Given the description of an element on the screen output the (x, y) to click on. 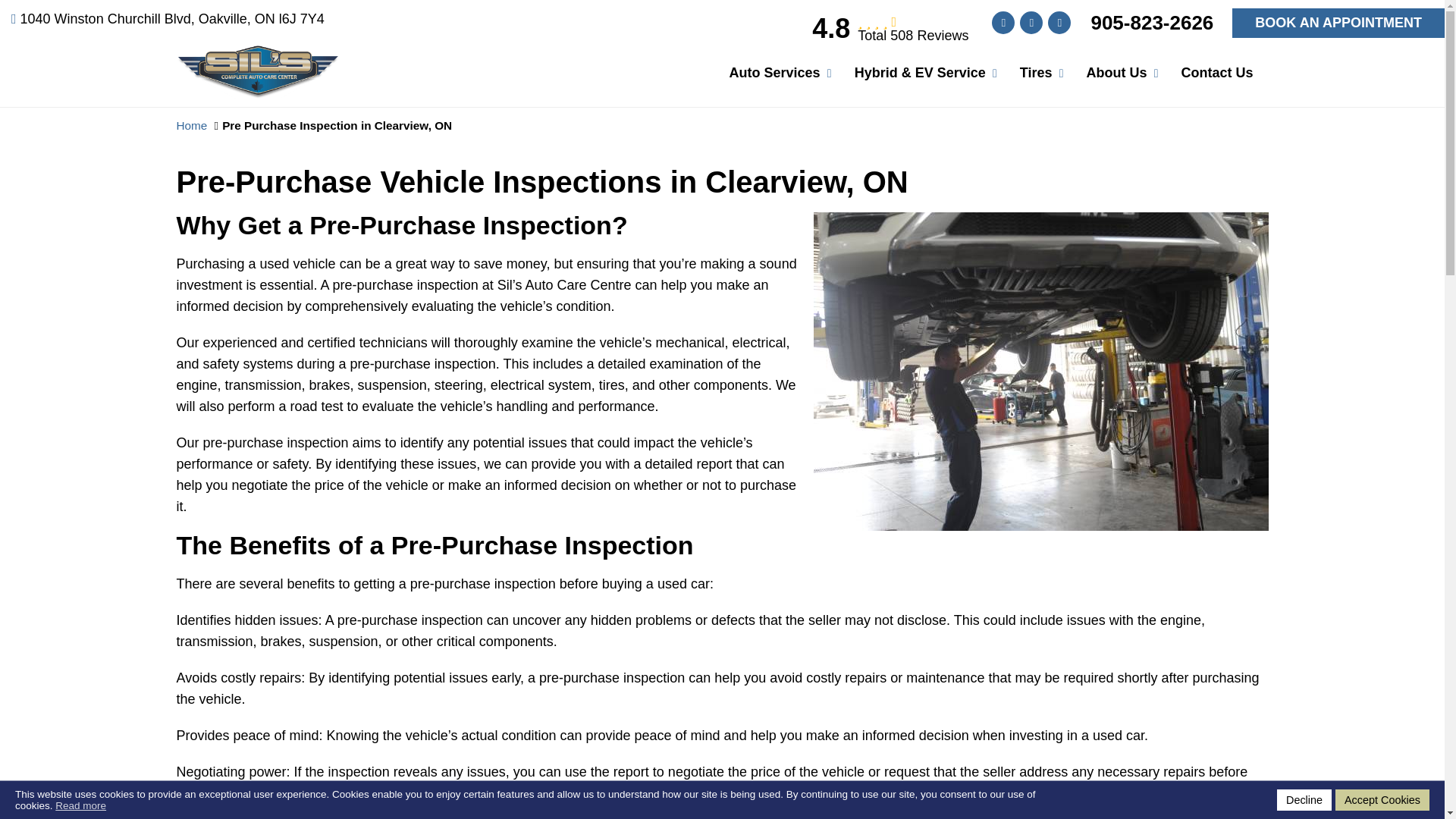
BOOK AN APPOINTMENT (1337, 22)
Auto Services (774, 72)
Go to Sil's Auto Care Centre. (191, 124)
Sil's Auto Care Centre (257, 55)
905-823-2626 (1151, 22)
Tires (1035, 72)
Decline (1304, 799)
Read more (80, 805)
Accept Cookies (1382, 799)
